Given the description of an element on the screen output the (x, y) to click on. 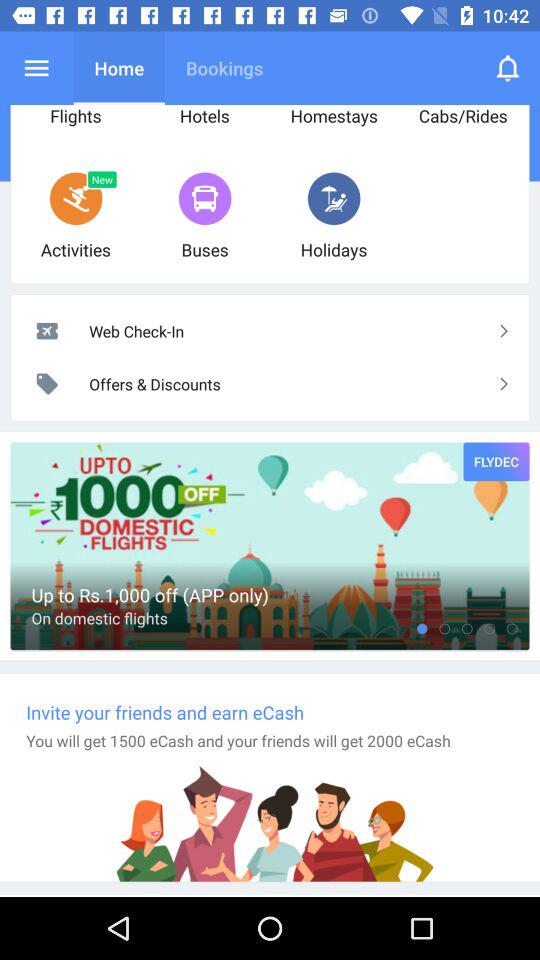
choose item next to the homestays icon (508, 67)
